Given the description of an element on the screen output the (x, y) to click on. 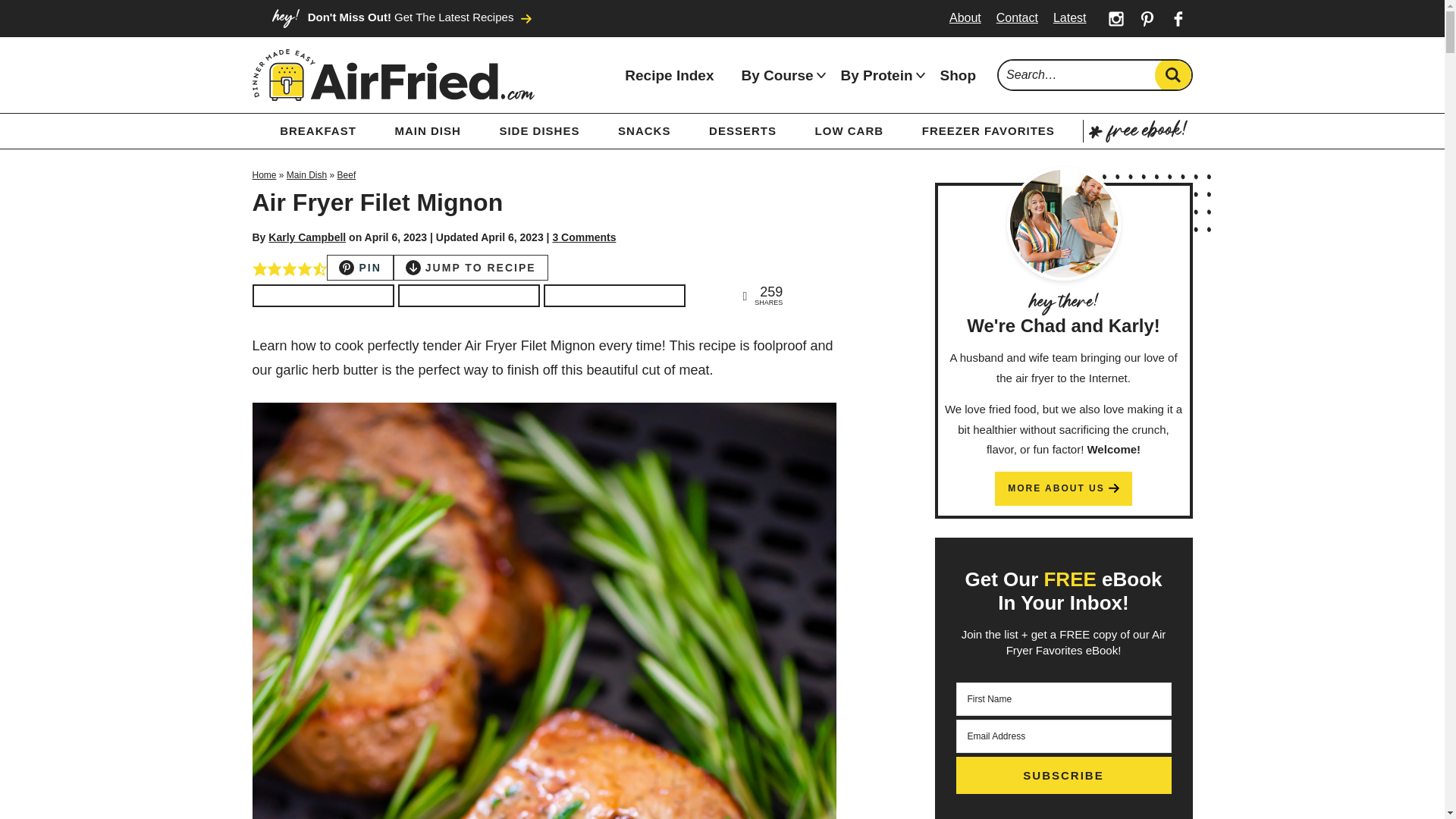
Recipe Index (668, 75)
Don't Miss Out! Get The Latest Recipes (399, 18)
Latest (1069, 17)
JUMP TO RECIPE (470, 267)
AIRFRIED.COM (392, 75)
By Protein (876, 75)
By Course (777, 75)
Search for (1094, 74)
About (965, 17)
Shop (958, 75)
Contact (1016, 17)
